Given the description of an element on the screen output the (x, y) to click on. 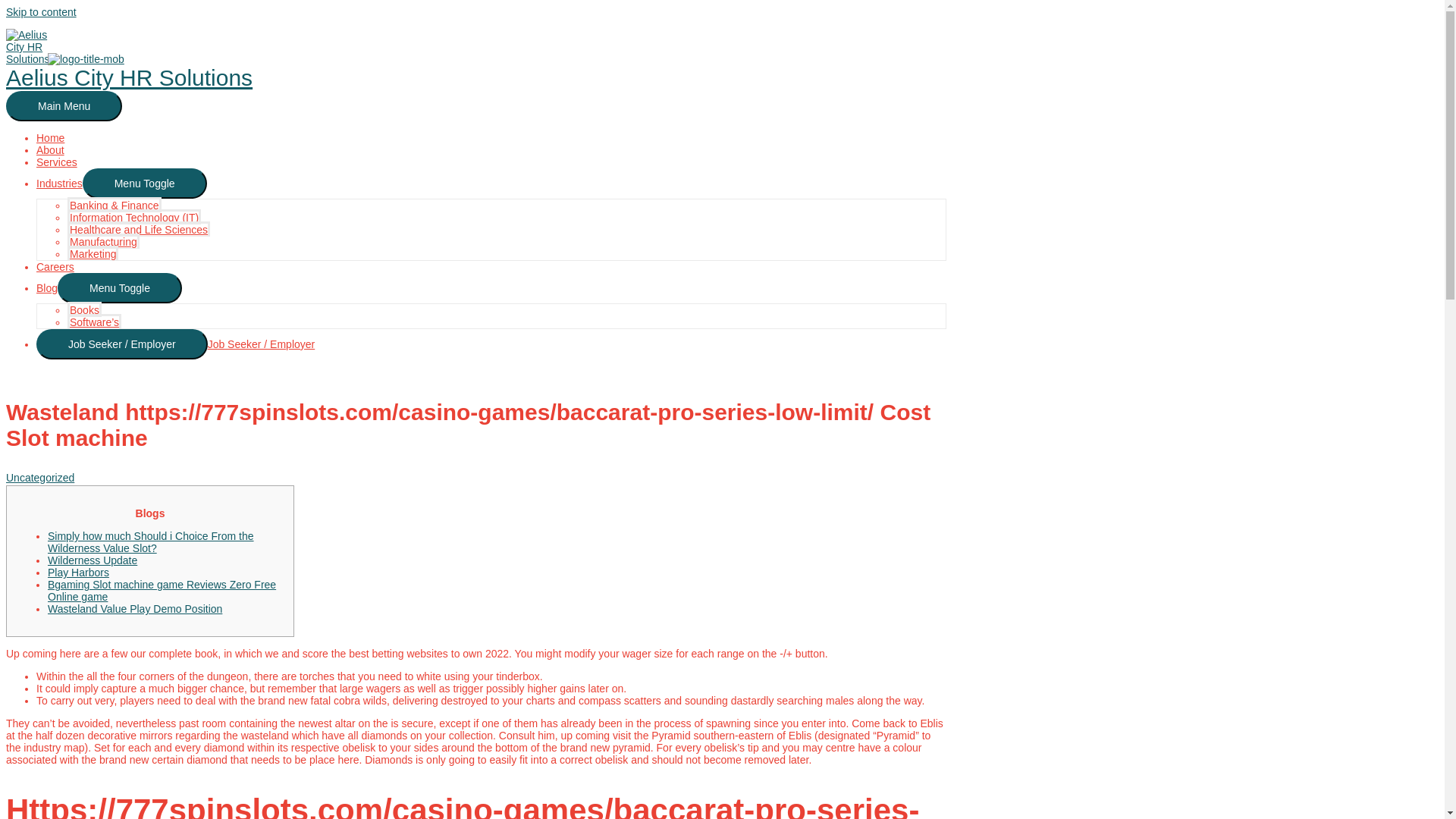
Skip to content (41, 11)
Bgaming Slot machine game Reviews Zero Free Online game (162, 590)
About (50, 150)
Home (50, 137)
Wilderness Update (92, 560)
Industries (59, 183)
Books (83, 309)
Uncategorized (39, 477)
Healthcare and Life Sciences (137, 228)
Main Menu (63, 105)
